Given the description of an element on the screen output the (x, y) to click on. 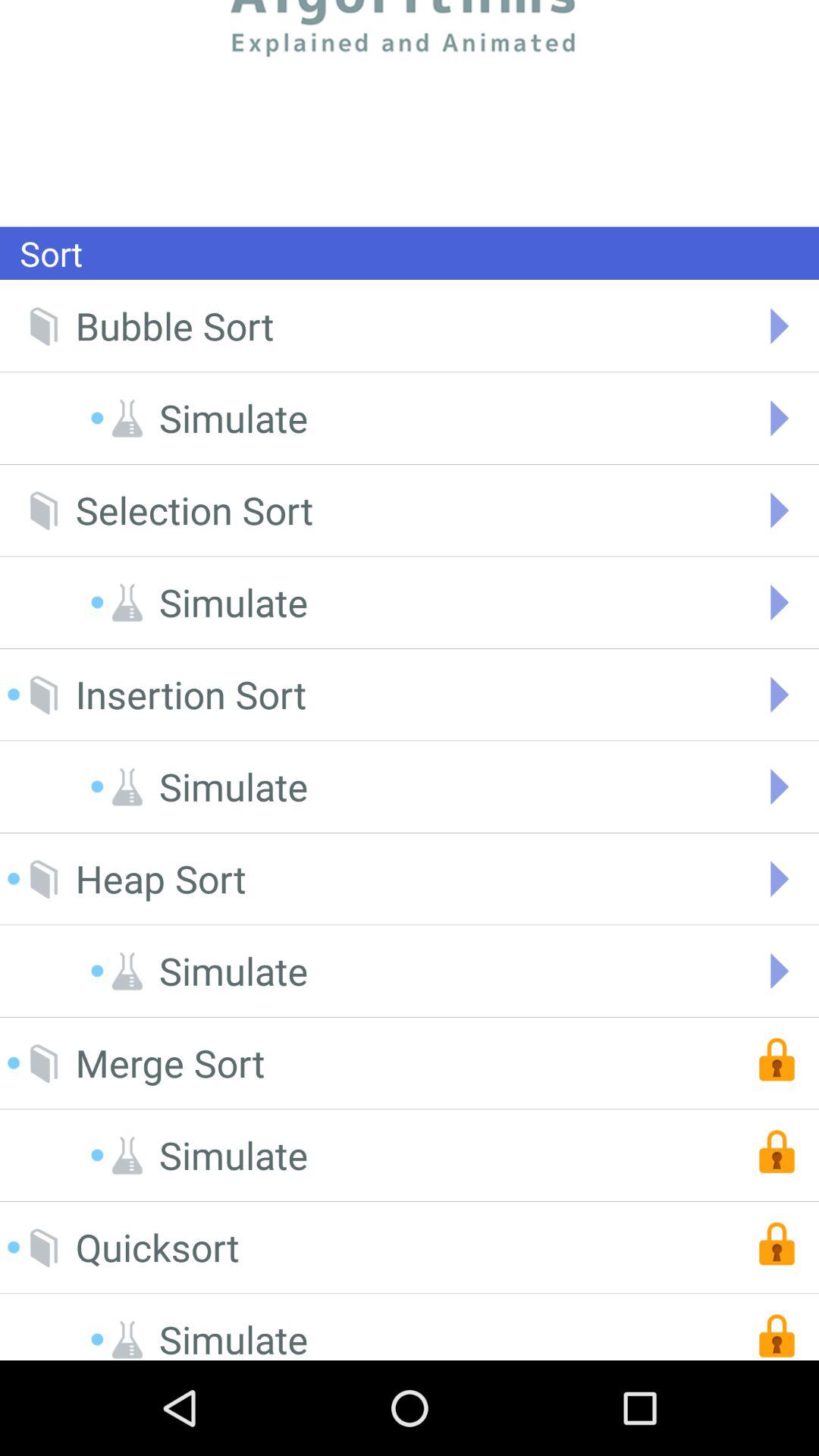
select the merge sort item (170, 1063)
